Given the description of an element on the screen output the (x, y) to click on. 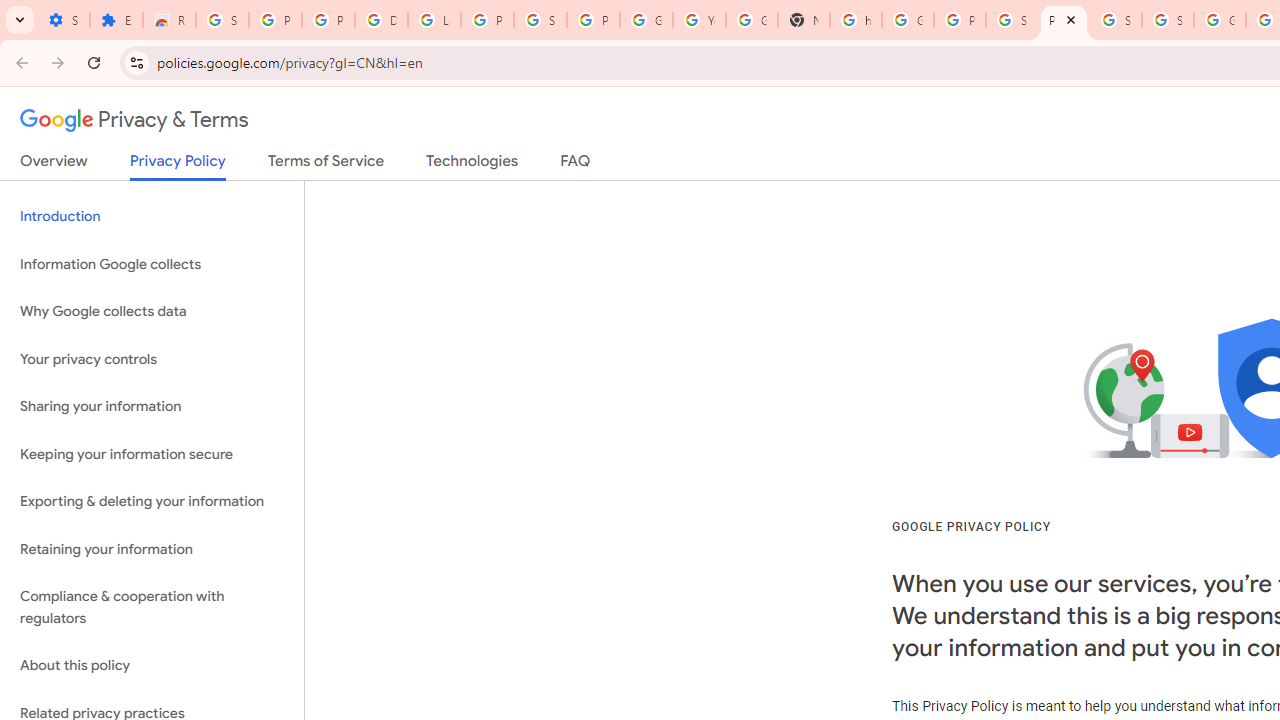
New Tab (803, 20)
Sign in - Google Accounts (1167, 20)
Learn how to find your photos - Google Photos Help (434, 20)
